Given the description of an element on the screen output the (x, y) to click on. 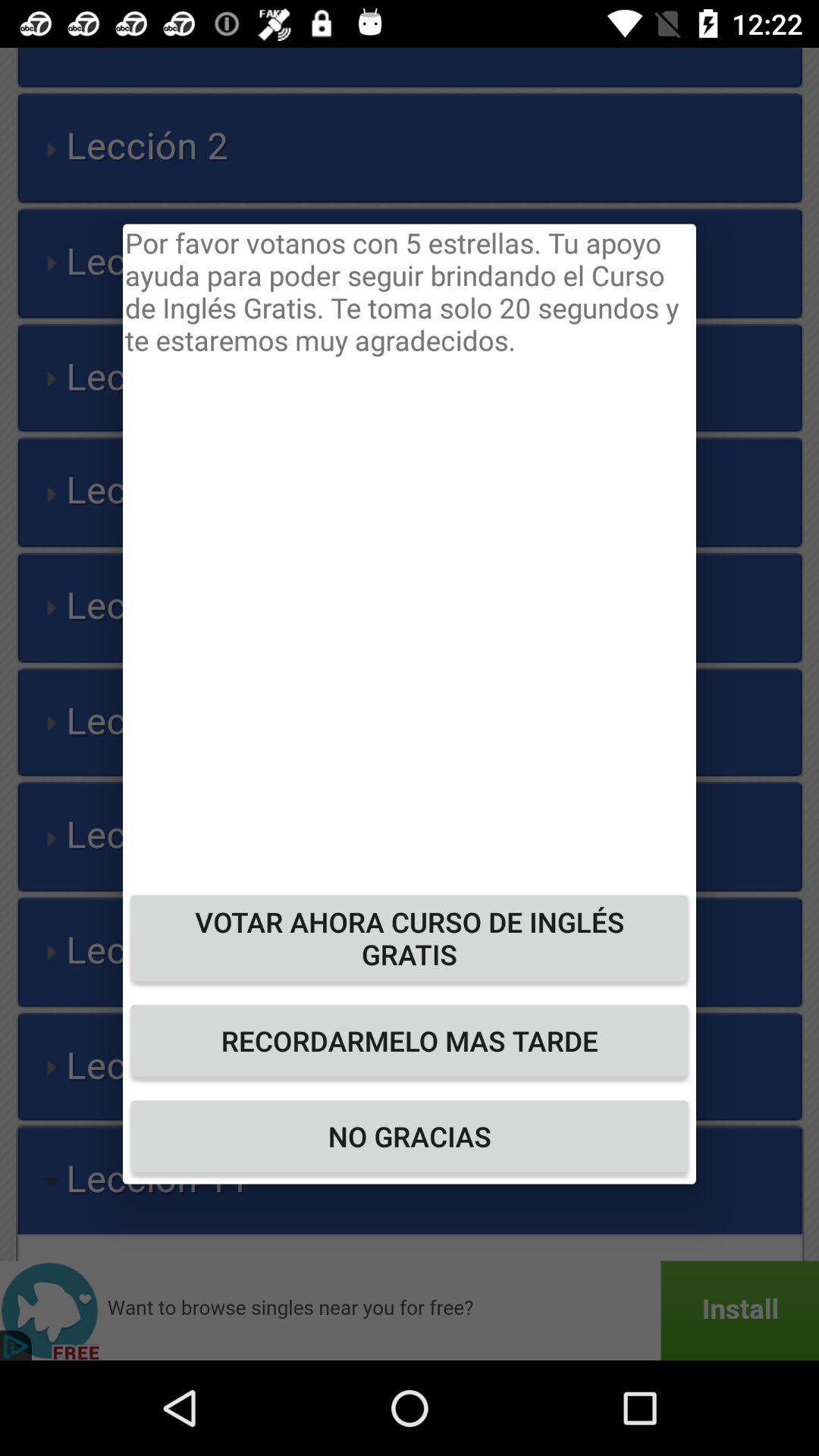
flip to recordarmelo mas tarde icon (409, 1040)
